Given the description of an element on the screen output the (x, y) to click on. 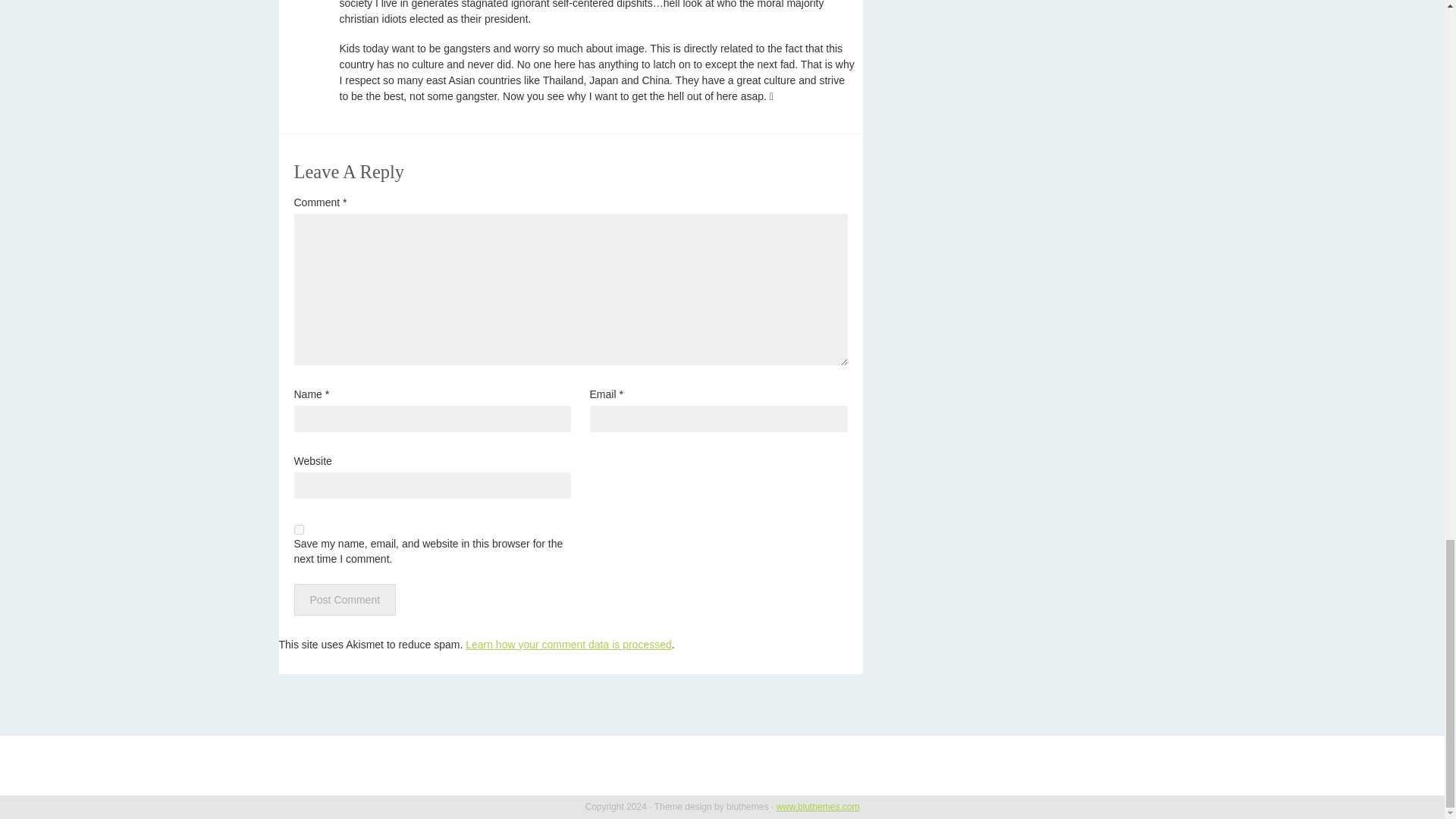
Post Comment (345, 599)
yes (299, 529)
